Given the description of an element on the screen output the (x, y) to click on. 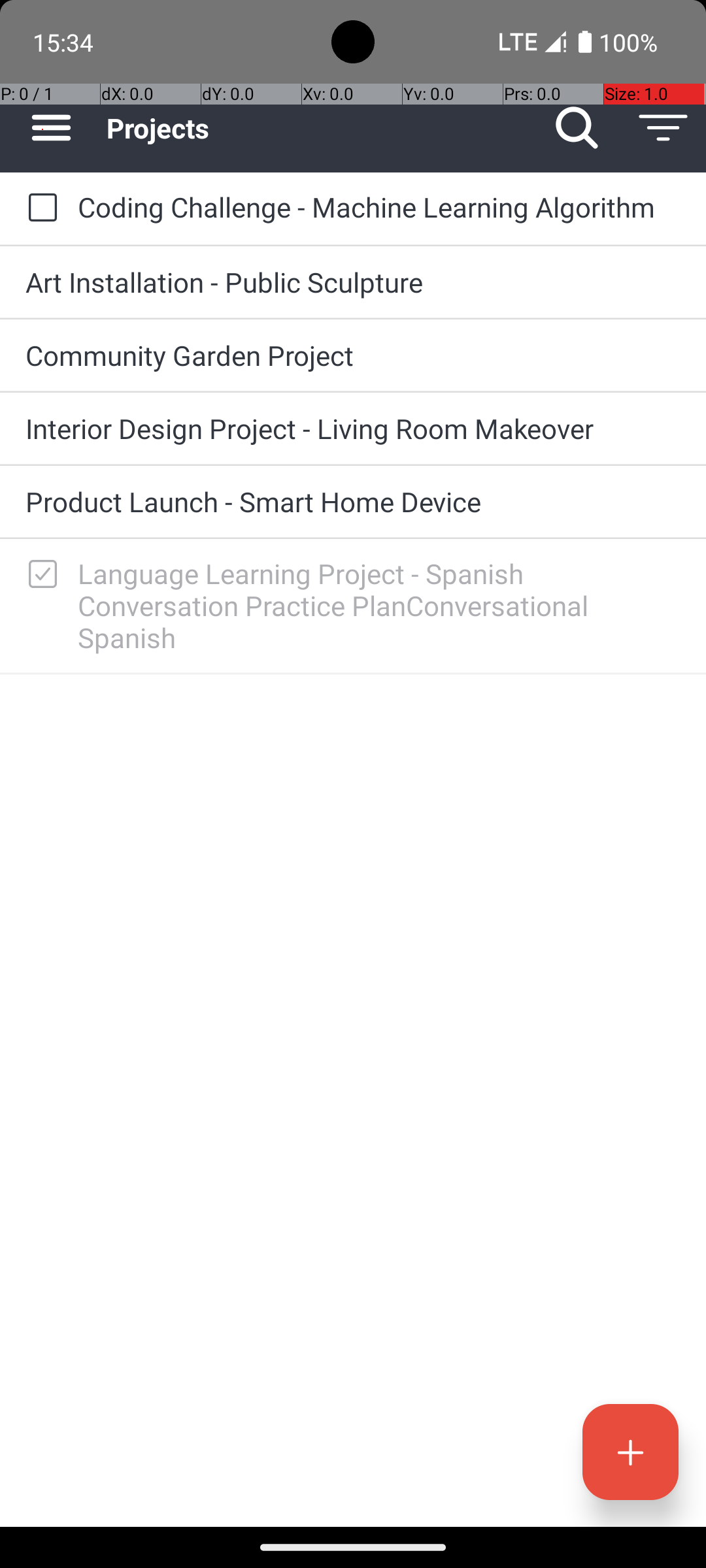
to-do: Coding Challenge - Machine Learning Algorithm Element type: android.widget.CheckBox (38, 208)
Art Installation - Public Sculpture Element type: android.widget.TextView (352, 281)
Community Garden Project Element type: android.widget.TextView (352, 354)
Interior Design Project - Living Room Makeover Element type: android.widget.TextView (352, 427)
Product Launch - Smart Home Device Element type: android.widget.TextView (352, 501)
to-do: Language Learning Project - Spanish Conversation Practice PlanConversational Spanish Element type: android.widget.CheckBox (38, 574)
Language Learning Project - Spanish Conversation Practice PlanConversational Spanish Element type: android.widget.TextView (378, 604)
